Given the description of an element on the screen output the (x, y) to click on. 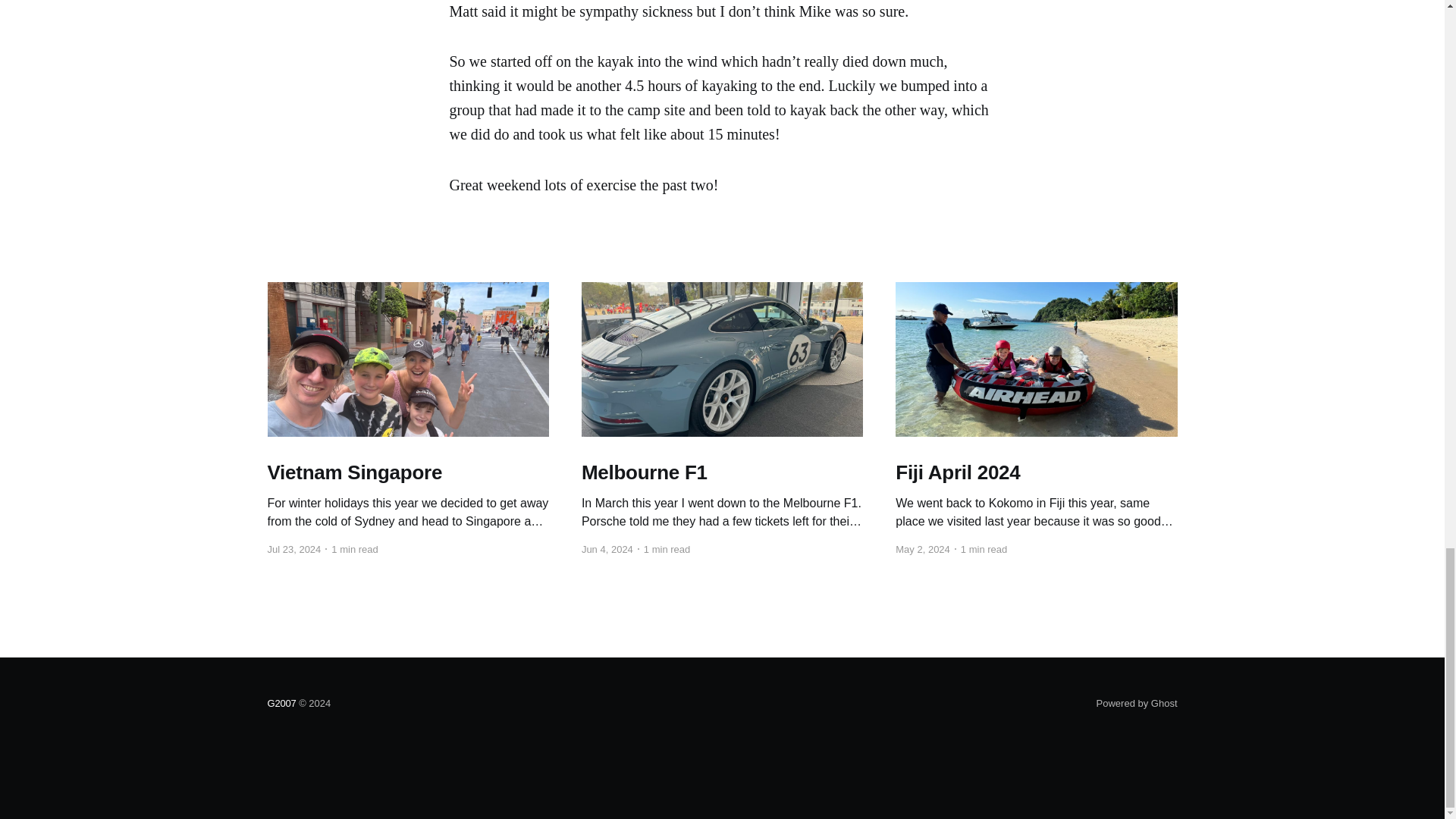
Powered by Ghost (1136, 703)
G2007 (280, 703)
